Given the description of an element on the screen output the (x, y) to click on. 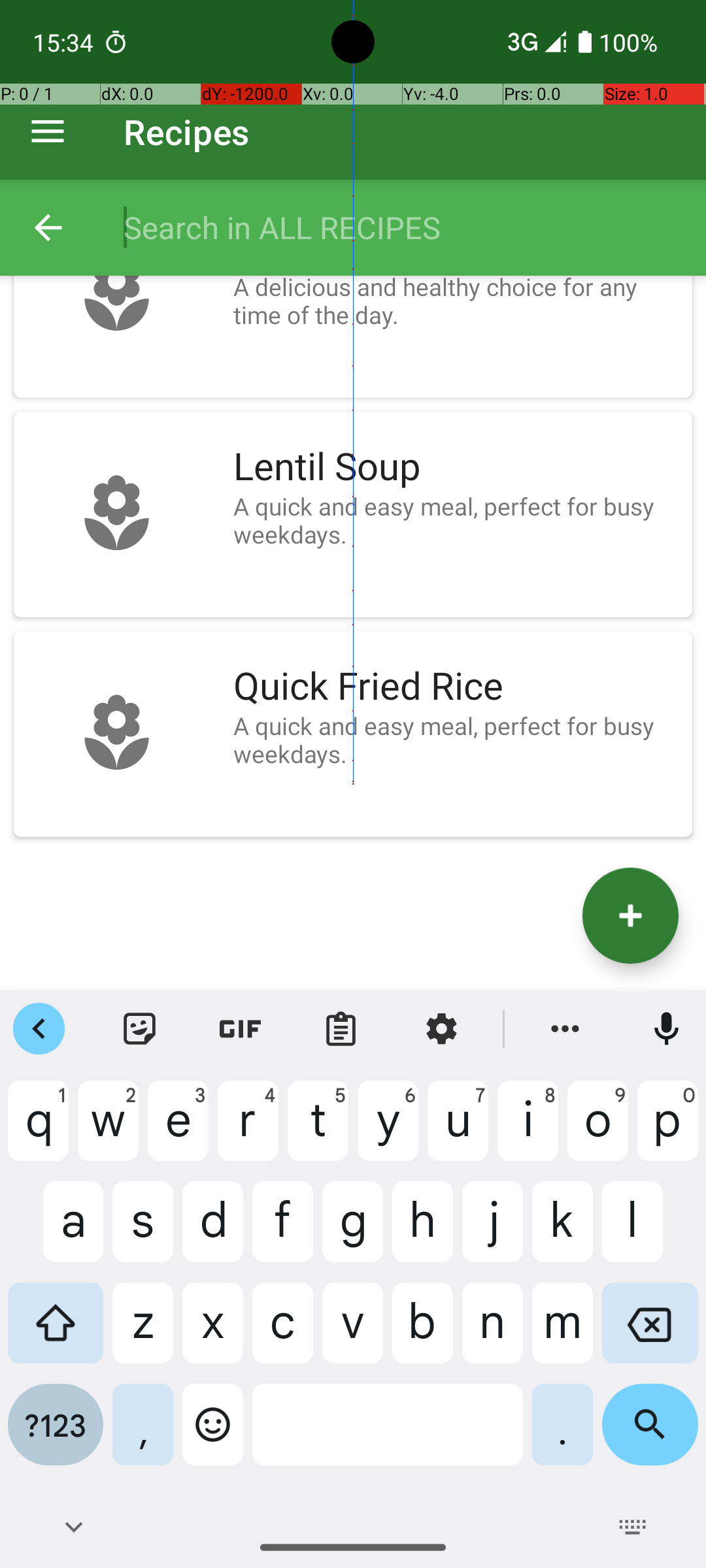
Collapse Element type: android.widget.ImageButton (48, 227)
Search in ALL RECIPES Element type: android.widget.AutoCompleteTextView (400, 227)
